Given the description of an element on the screen output the (x, y) to click on. 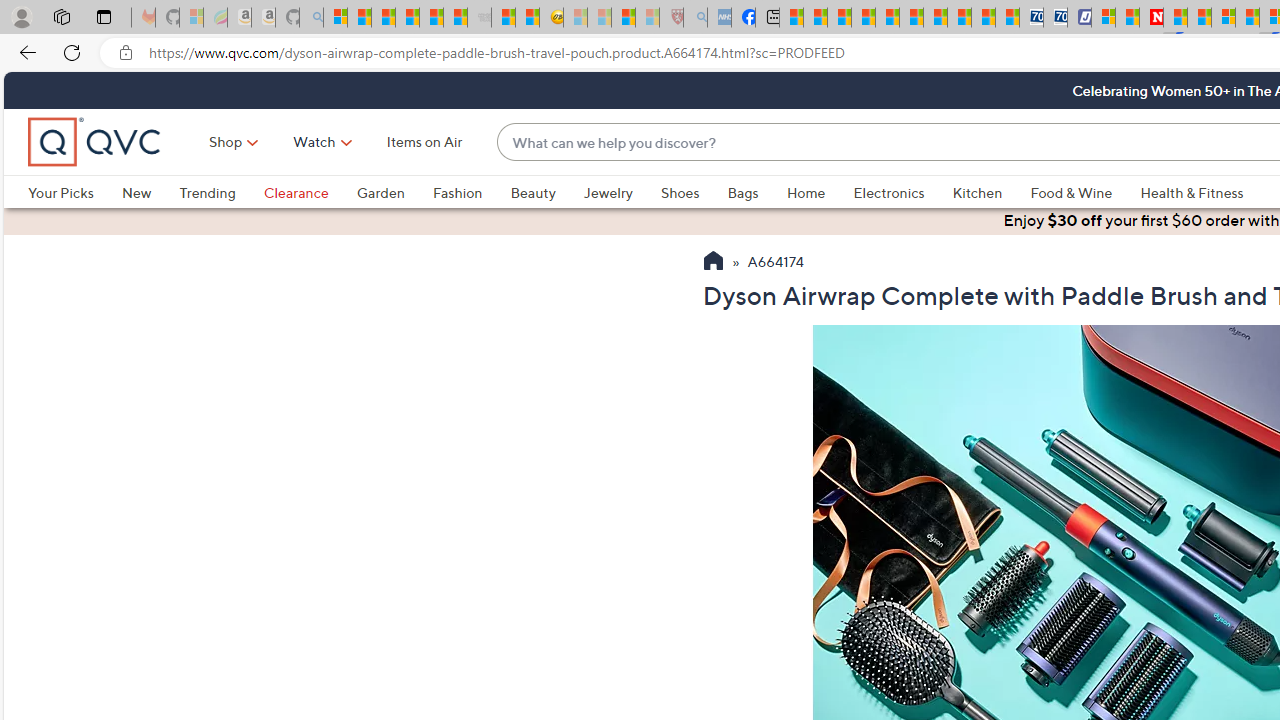
Trending (207, 192)
Garden (393, 192)
The Weather Channel - MSN (383, 17)
Health & Fitness (1197, 192)
Climate Damage Becomes Too Severe To Reverse (863, 17)
